Given the description of an element on the screen output the (x, y) to click on. 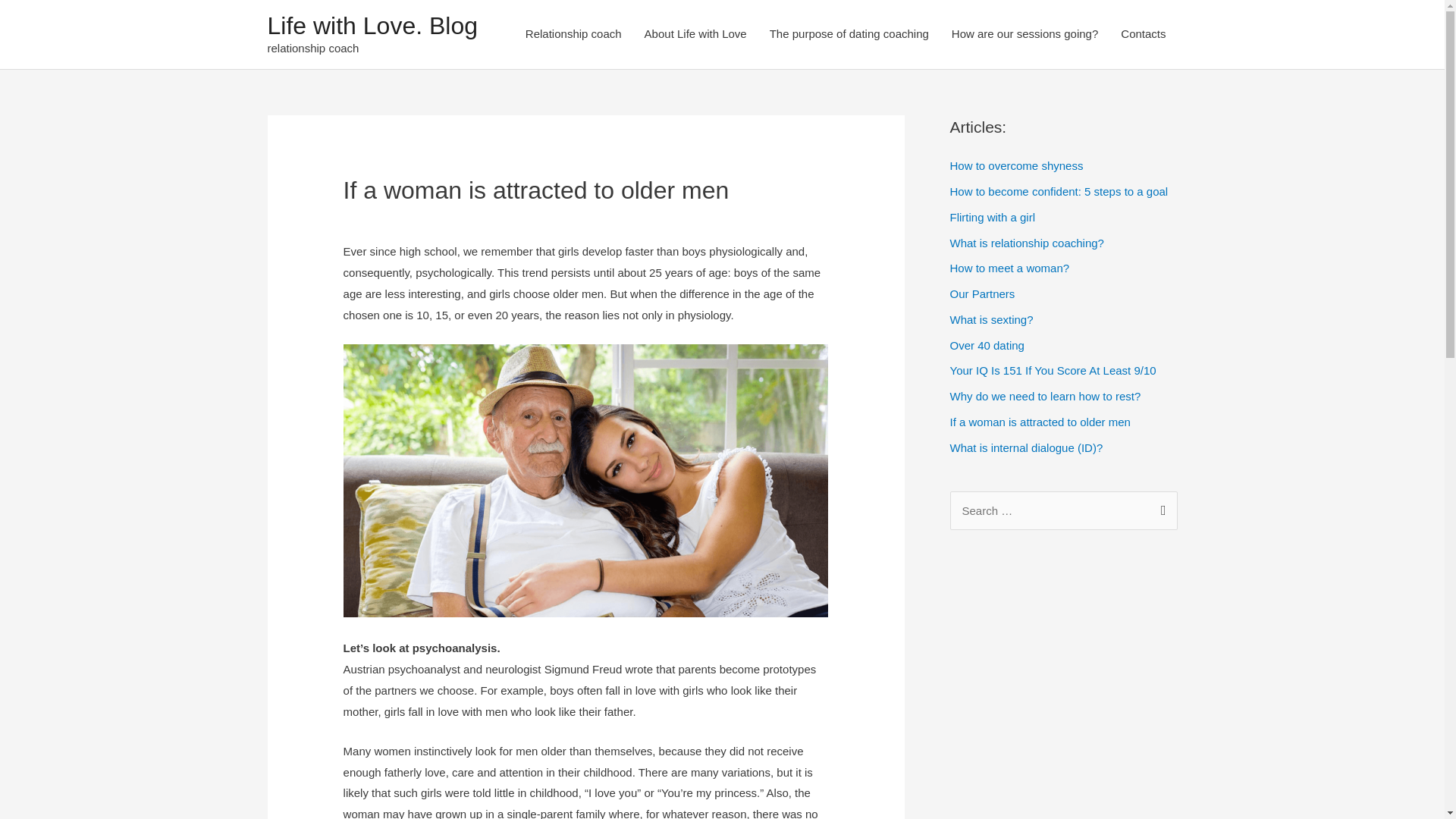
Flirting with a girl Element type: text (992, 216)
Relationship coach Element type: text (573, 34)
If a woman is attracted to older men Element type: text (1039, 421)
Our Partners Element type: text (981, 293)
How are our sessions going? Element type: text (1024, 34)
Your IQ Is 151 If You Score At Least 9/10 Element type: text (1052, 370)
Why do we need to learn how to rest? Element type: text (1044, 395)
How to meet a woman? Element type: text (1009, 267)
Search Element type: text (1160, 506)
What is sexting? Element type: text (990, 319)
How to overcome shyness Element type: text (1015, 165)
Over 40 dating Element type: text (986, 344)
About Life with Love Element type: text (695, 34)
What is internal dialogue (ID)? Element type: text (1025, 447)
The purpose of dating coaching Element type: text (849, 34)
What is relationship coaching? Element type: text (1026, 242)
Contacts Element type: text (1142, 34)
How to become confident: 5 steps to a goal Element type: text (1058, 191)
Life with Love. Blog Element type: text (371, 25)
